Given the description of an element on the screen output the (x, y) to click on. 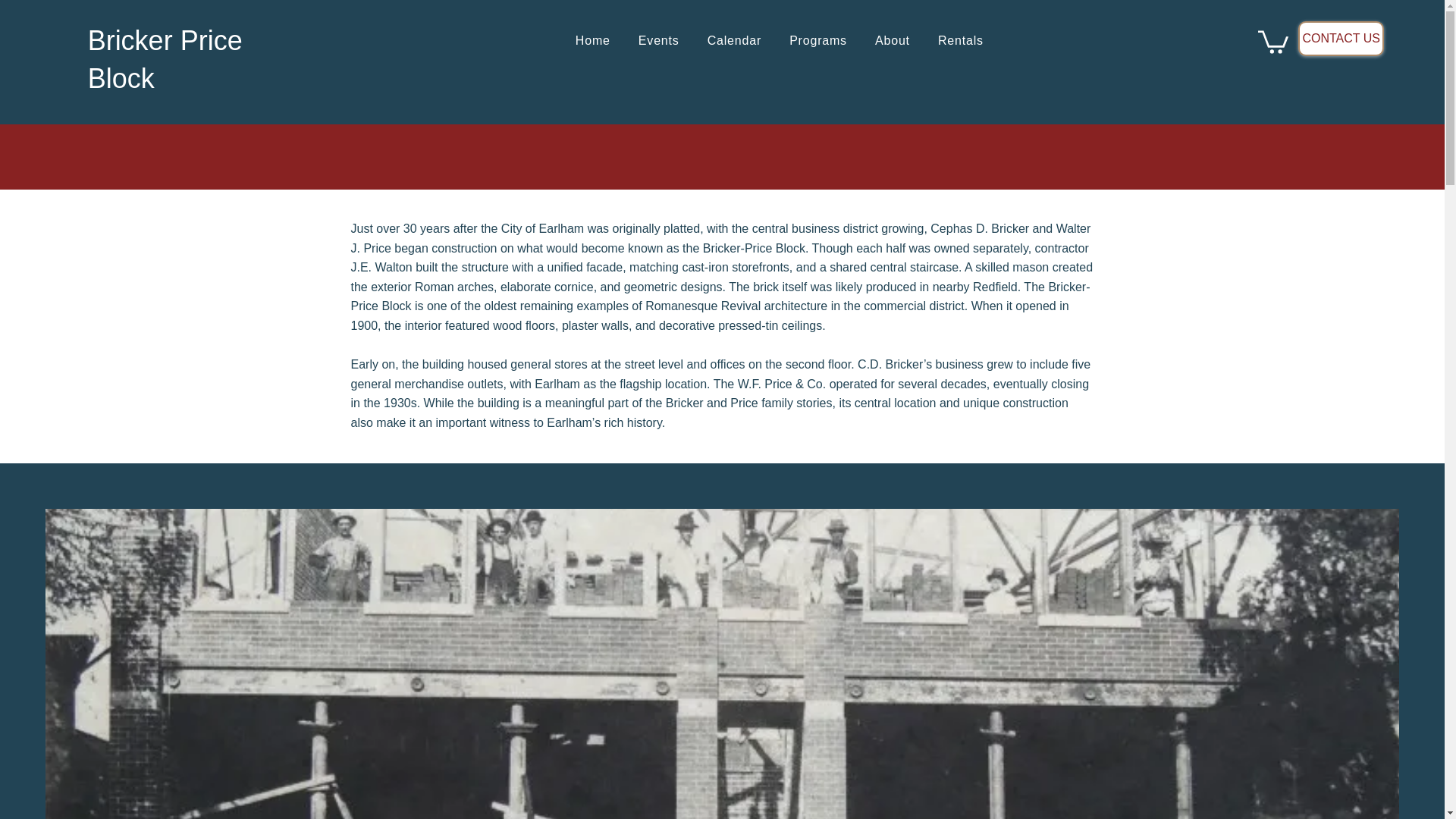
Events (658, 40)
About (779, 40)
Calendar (891, 40)
Home (733, 40)
Rentals (592, 40)
Programs (960, 40)
CONTACT US (818, 40)
Bricker Price Block (1341, 38)
